Given the description of an element on the screen output the (x, y) to click on. 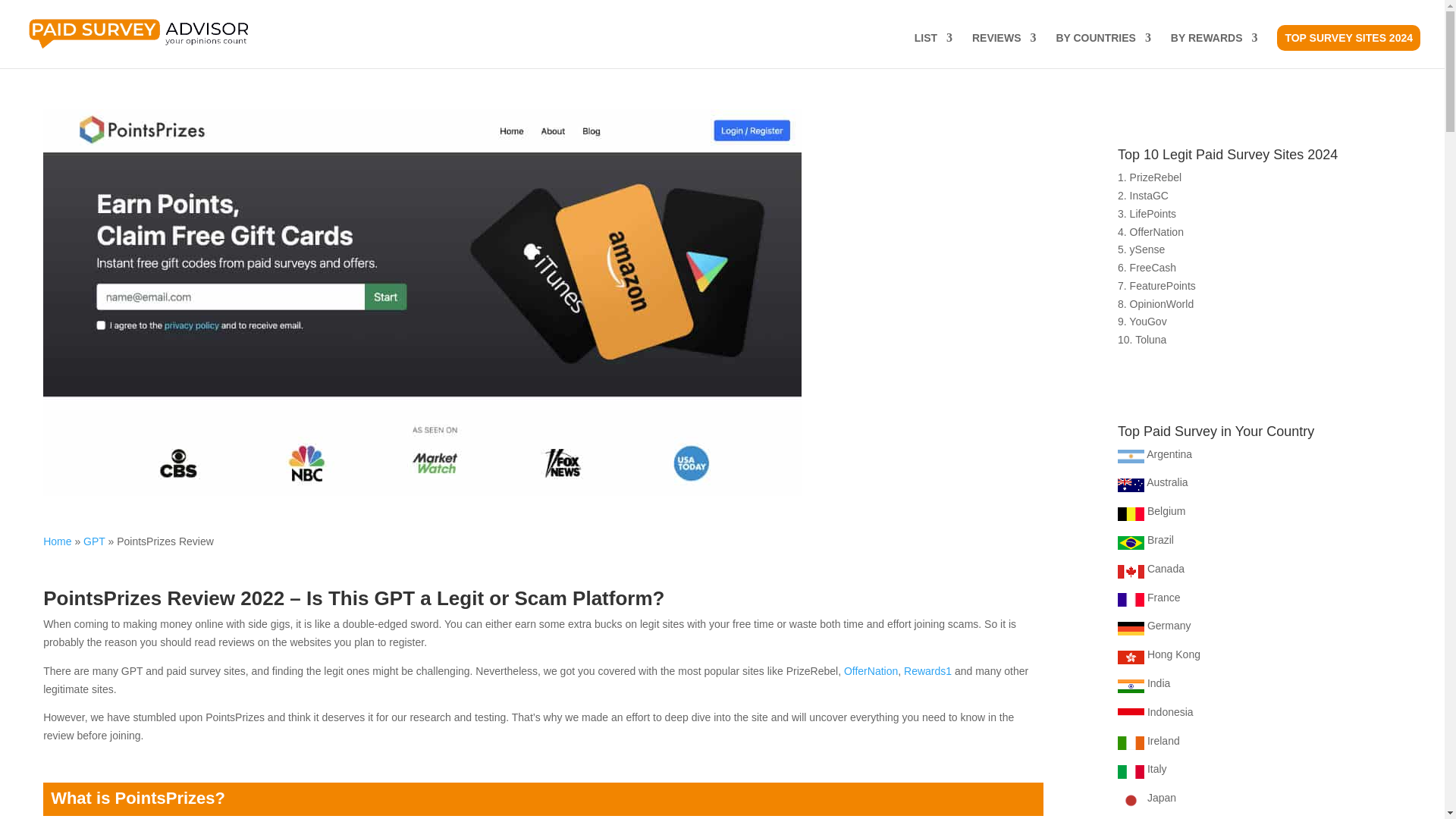
REVIEWS (1004, 49)
BY COUNTRIES (1103, 49)
LIST (933, 49)
